Given the description of an element on the screen output the (x, y) to click on. 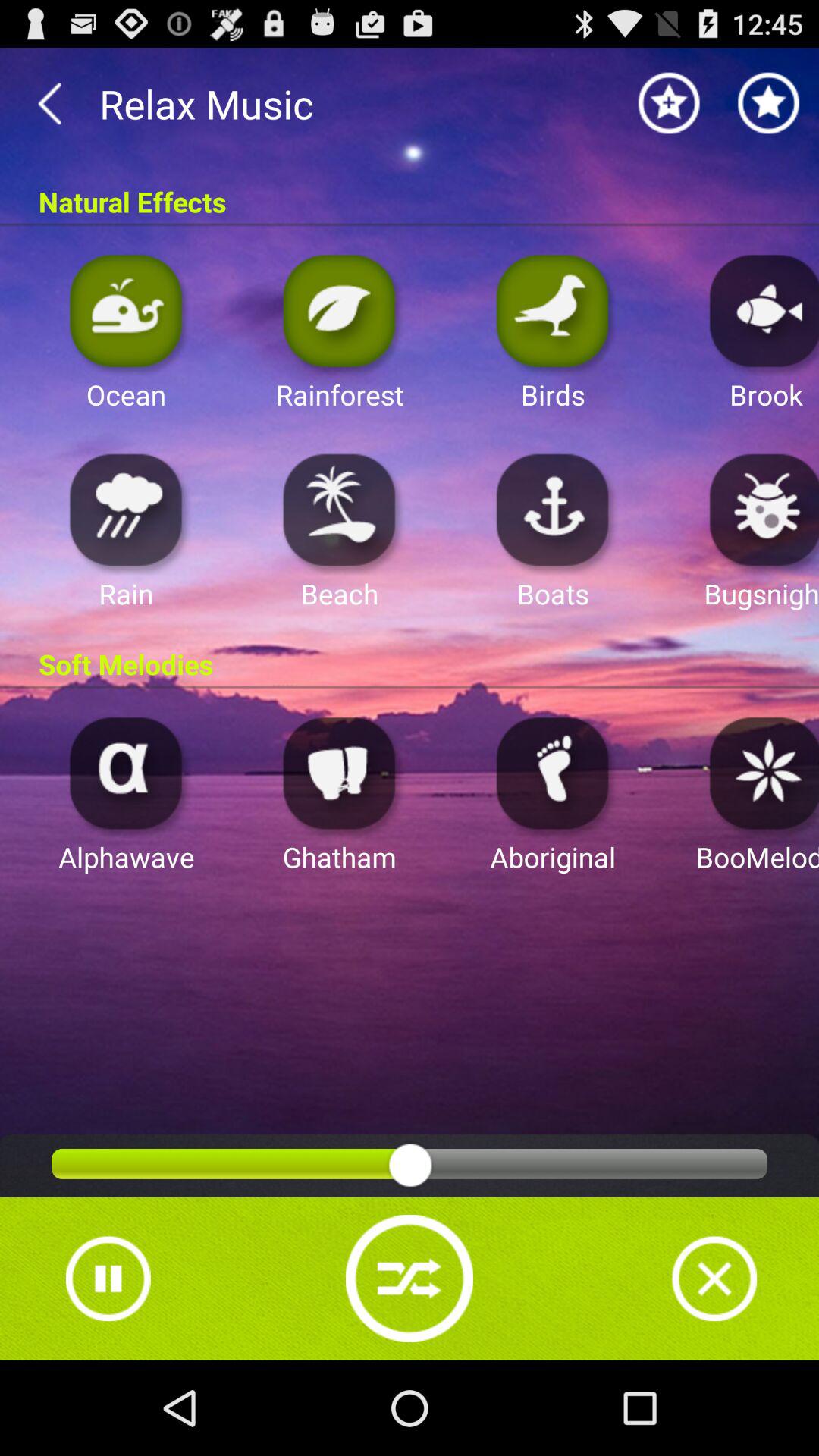
brook application (759, 309)
